Given the description of an element on the screen output the (x, y) to click on. 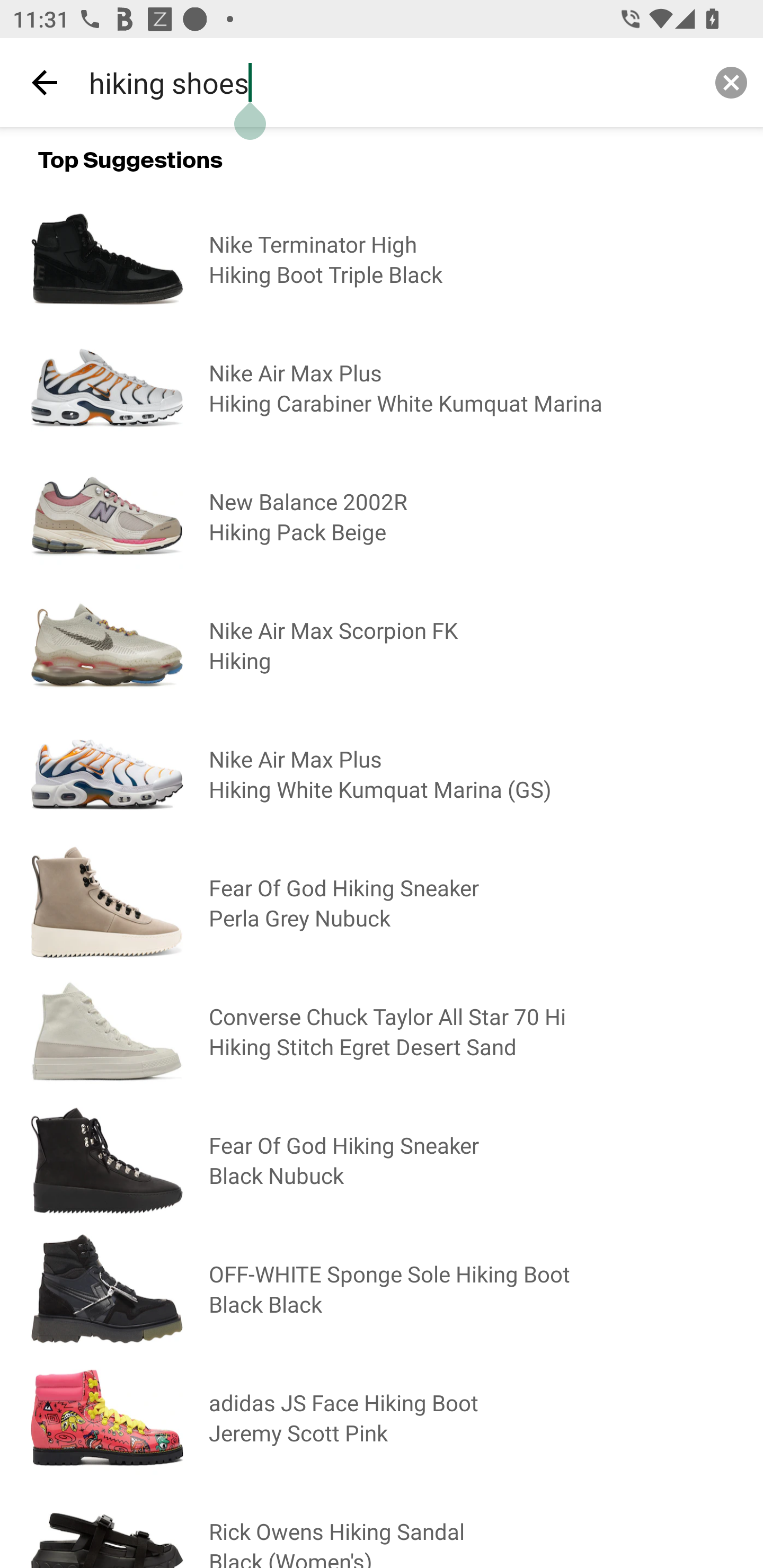
hiking shoes (387, 82)
Product Image New Balance 2002R Hiking Pack Beige (381, 516)
Product Image Nike Air Max Scorpion FK Hiking (381, 644)
